Given the description of an element on the screen output the (x, y) to click on. 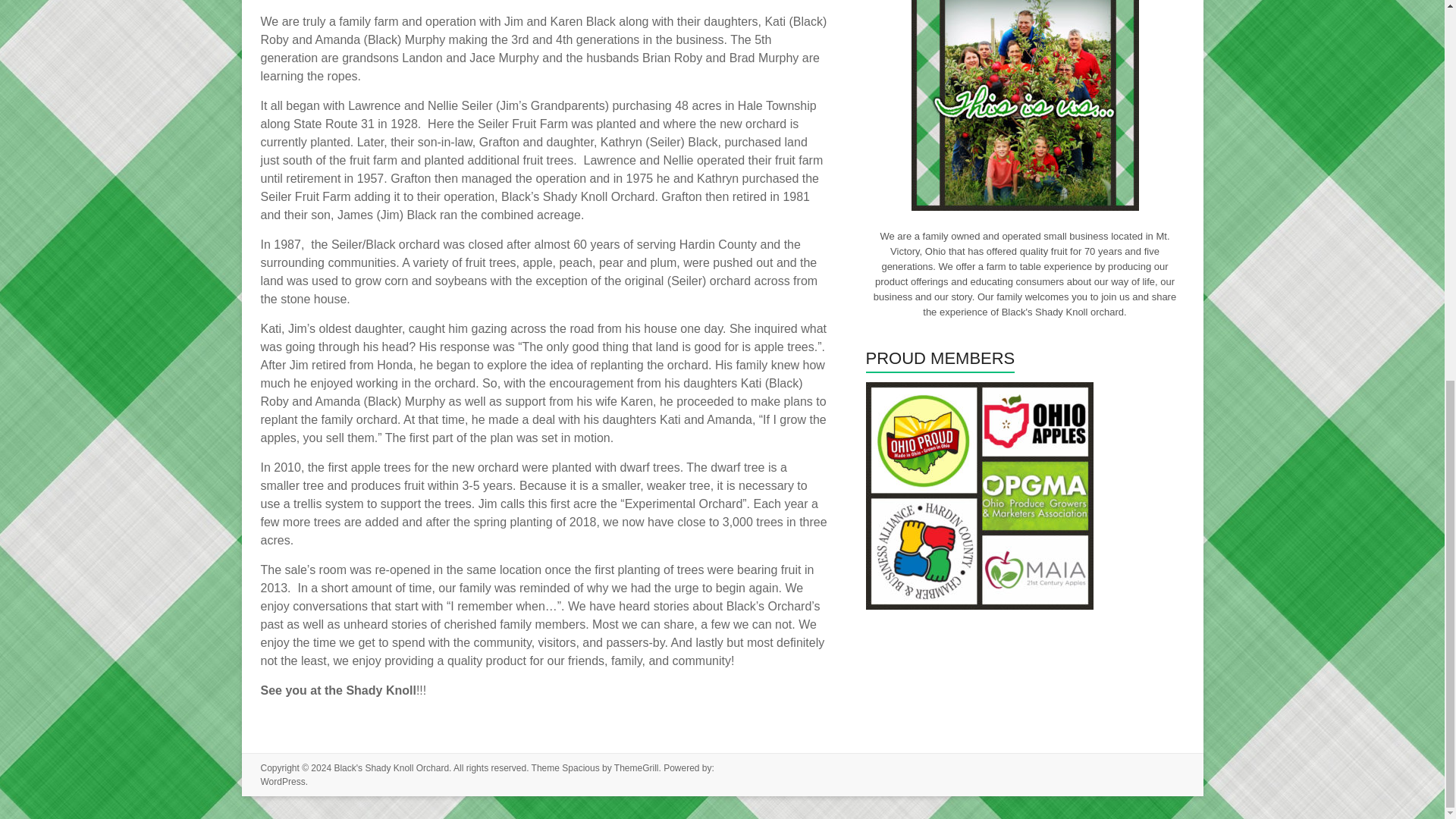
Spacious (580, 767)
WordPress (282, 781)
Black's Shady Knoll Orchard (390, 767)
WordPress (282, 781)
Black's Shady Knoll Orchard (390, 767)
Spacious (580, 767)
